Given the description of an element on the screen output the (x, y) to click on. 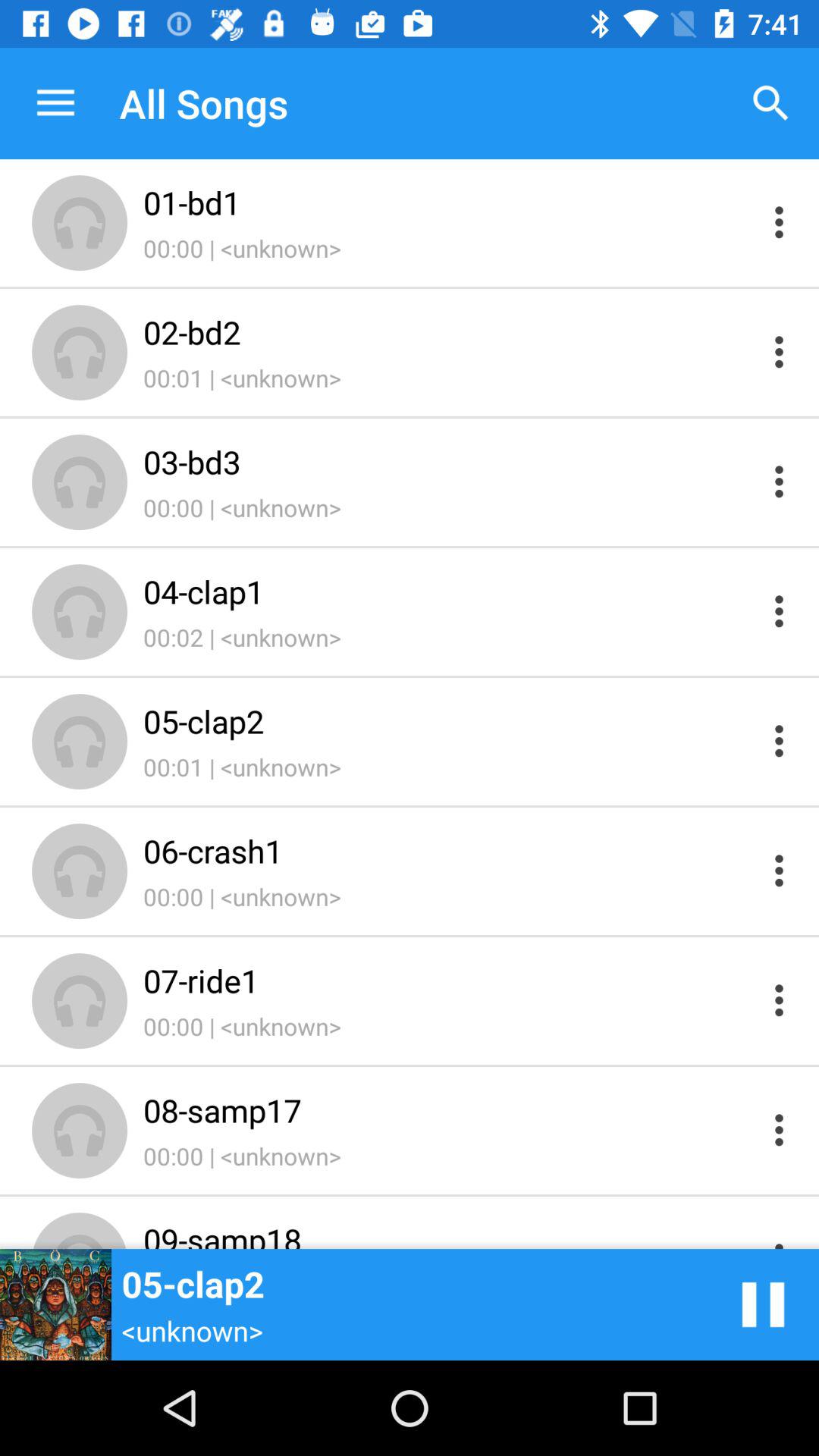
more options (779, 481)
